Given the description of an element on the screen output the (x, y) to click on. 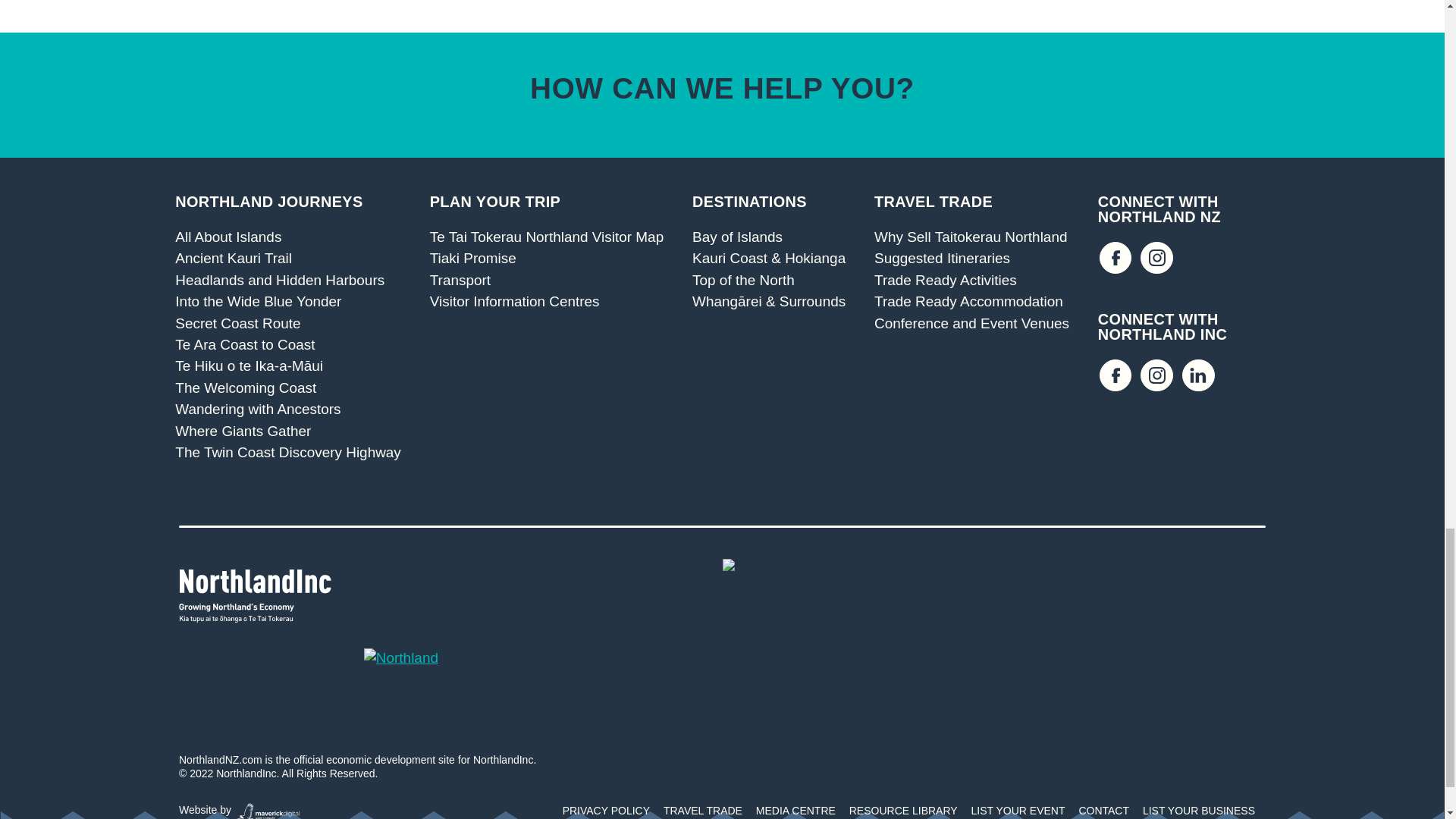
Connect on Instagram (1156, 257)
Connect on LinkedIn (1198, 375)
Connect on Instagram (1156, 375)
Connect on Facebook (1115, 375)
Connect on Facebook (1115, 257)
